Given the description of an element on the screen output the (x, y) to click on. 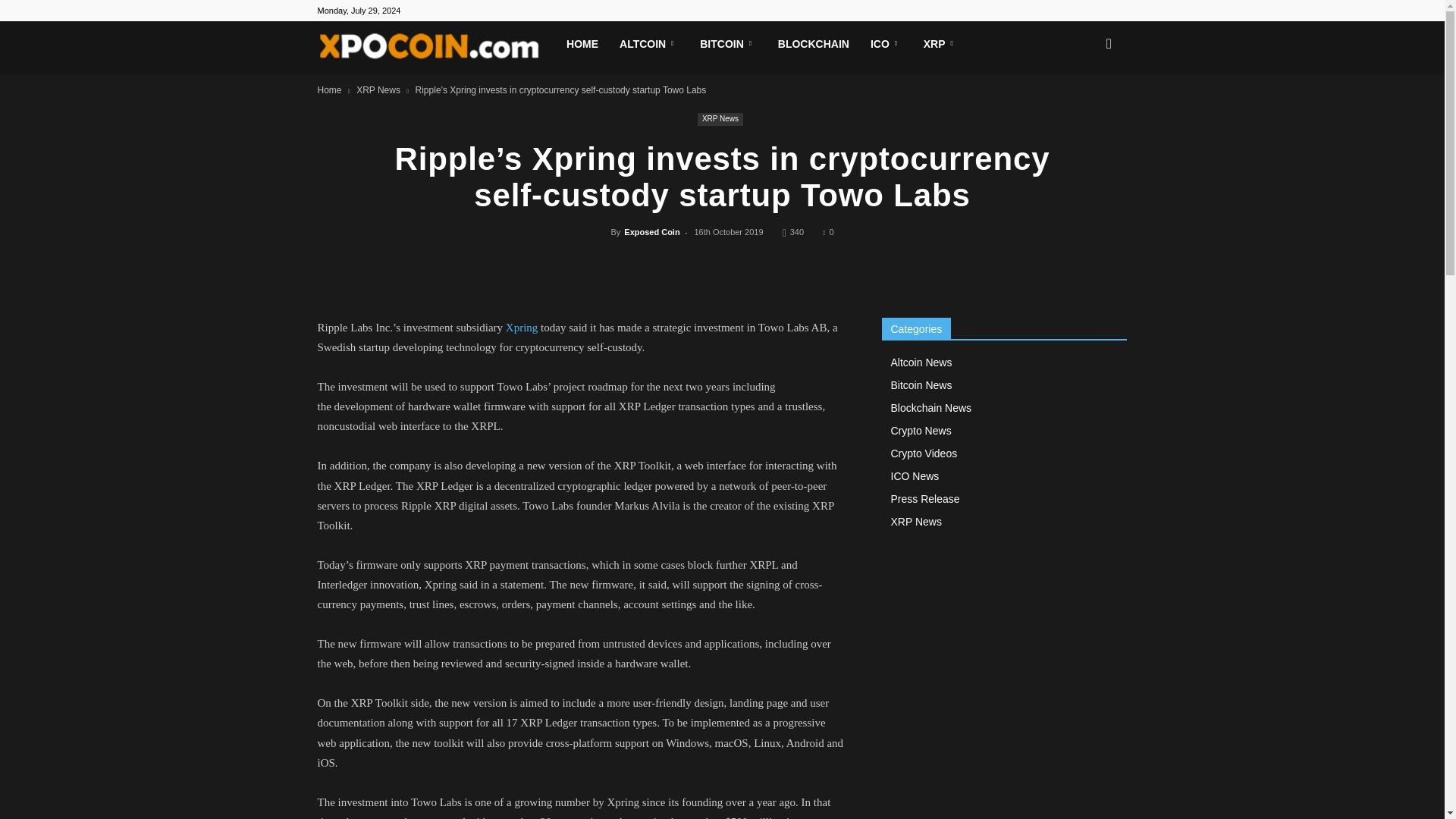
HOME (582, 43)
XPOCOIN (436, 47)
ALTCOIN (648, 43)
BITCOIN (727, 43)
